Given the description of an element on the screen output the (x, y) to click on. 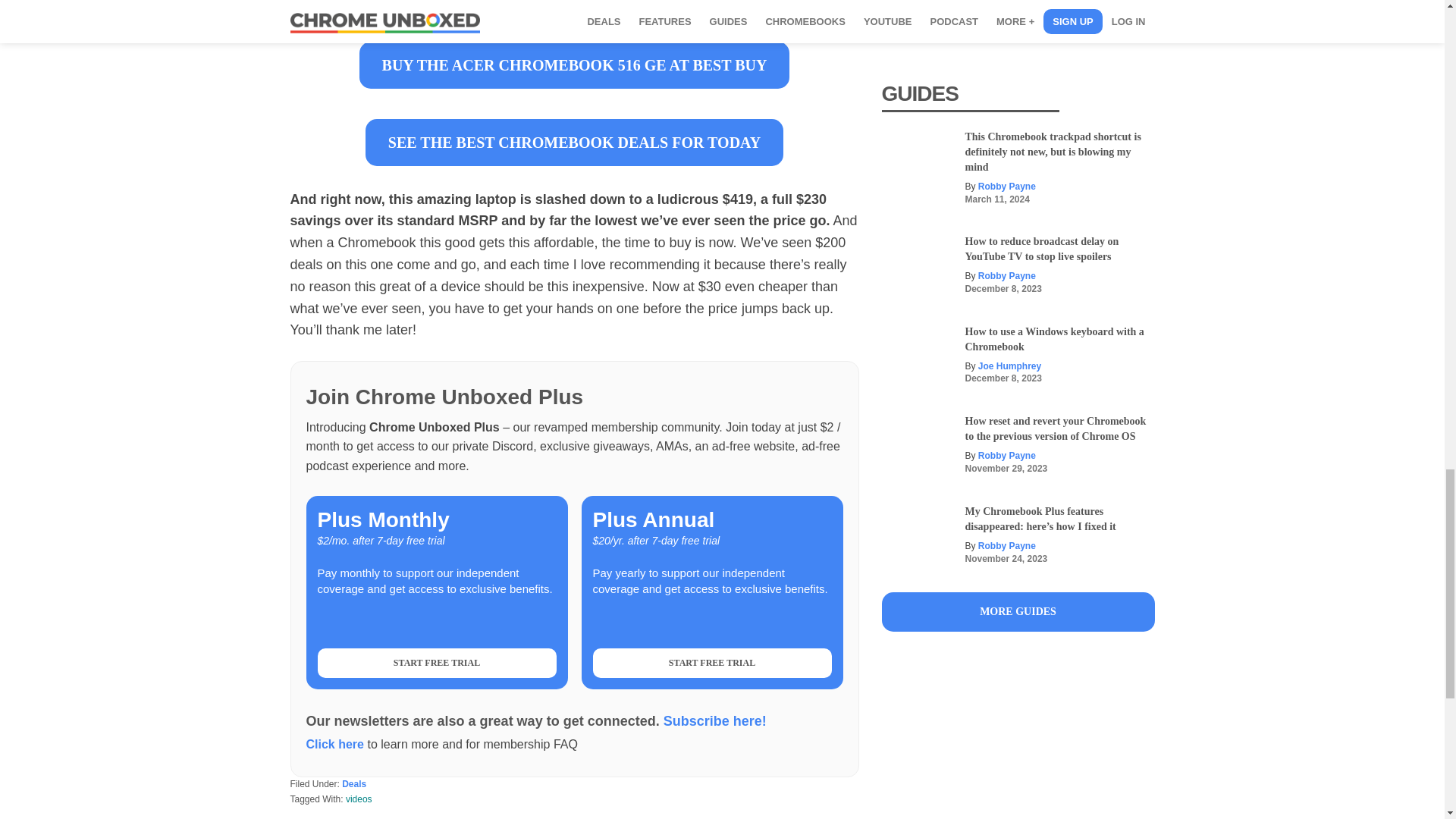
Guides and How-To's (1017, 611)
